Given the description of an element on the screen output the (x, y) to click on. 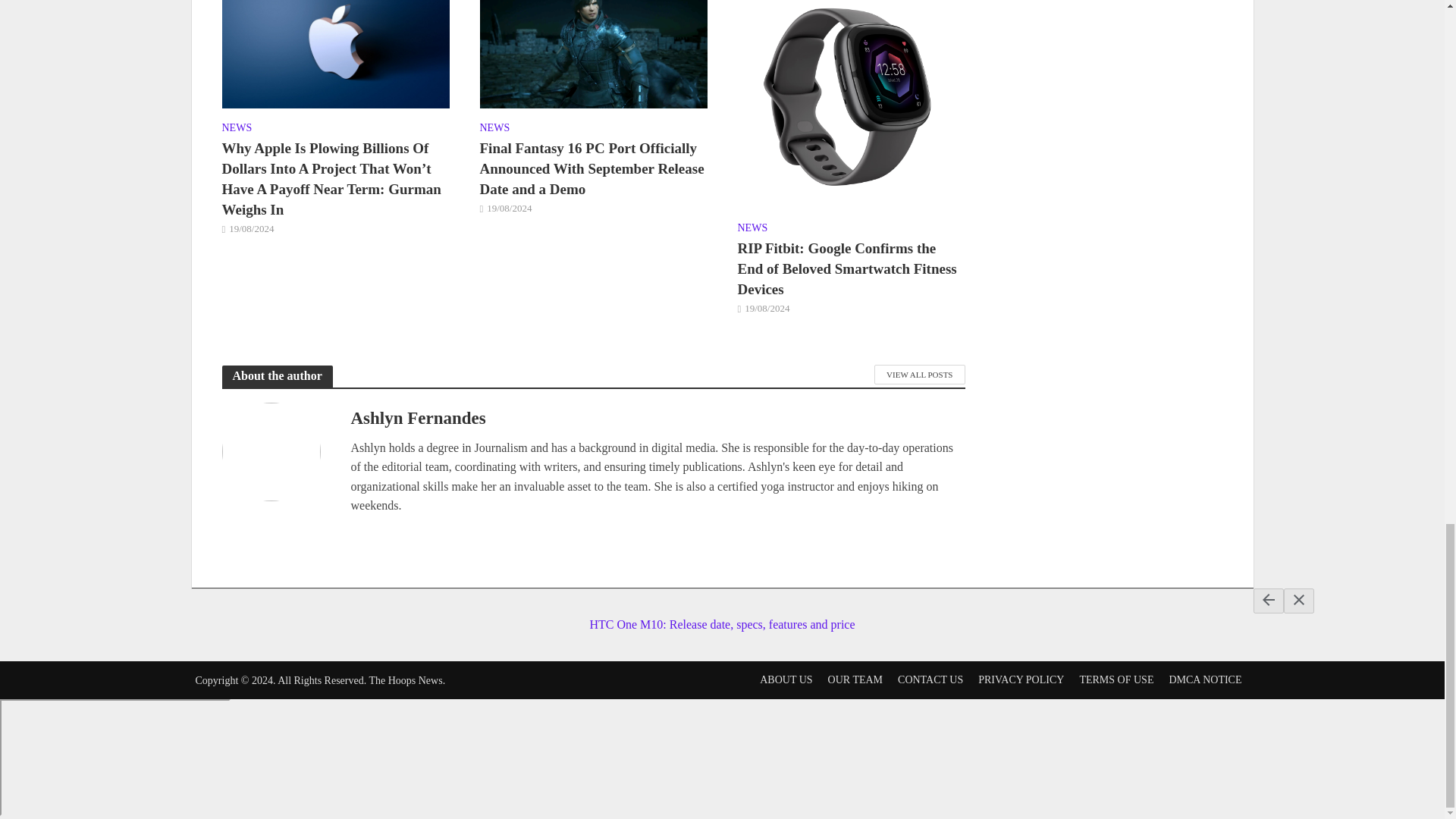
NEWS (494, 129)
NEWS (236, 129)
NEWS (751, 229)
HTC One M10: Release date, specs, features and price (721, 611)
